Given the description of an element on the screen output the (x, y) to click on. 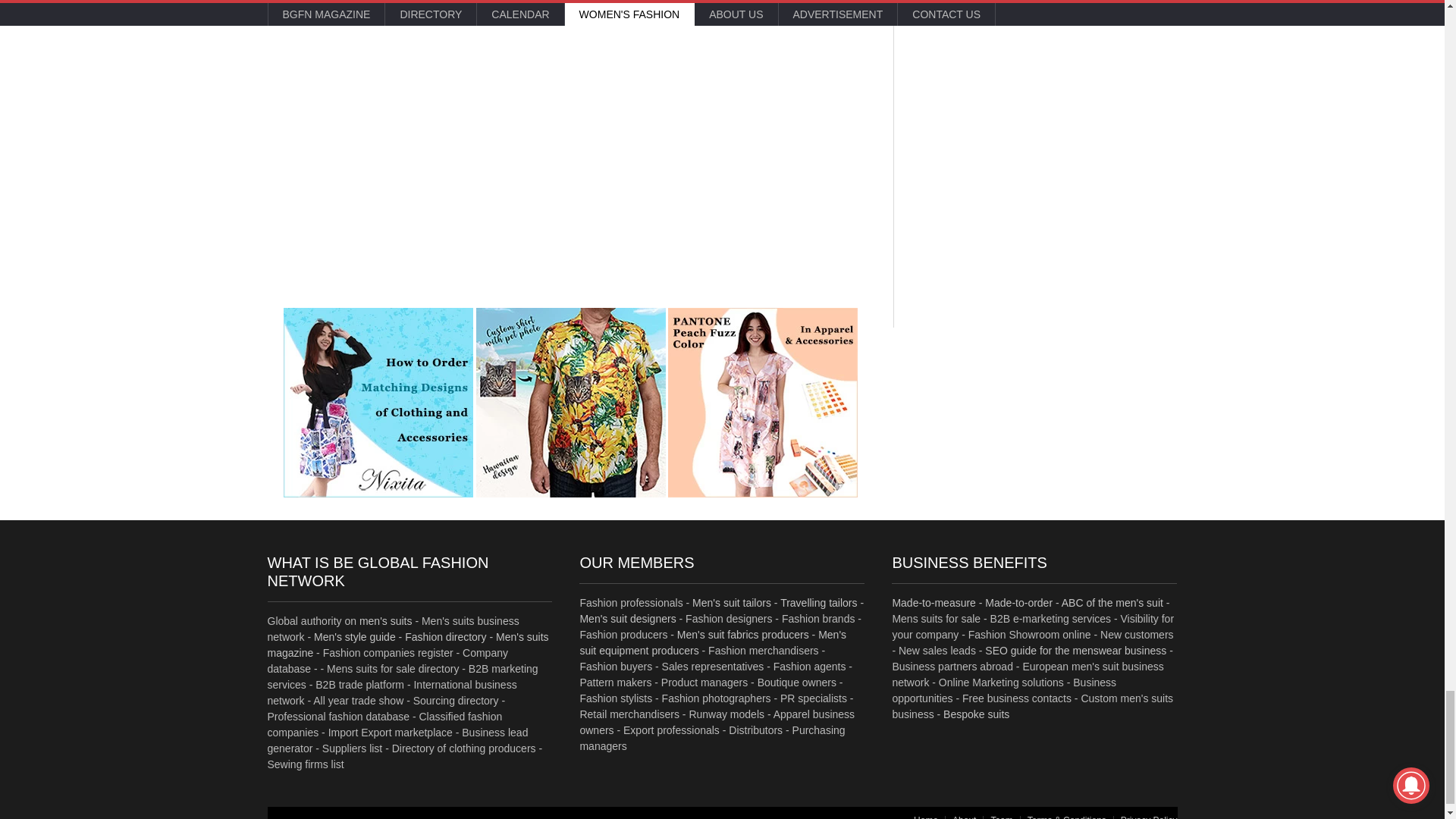
Is it Trending to Put Your Cat's Face on a Dress or Shirt? (570, 402)
How to Use the Pantone Color of the Year 2024 (762, 402)
